Given the description of an element on the screen output the (x, y) to click on. 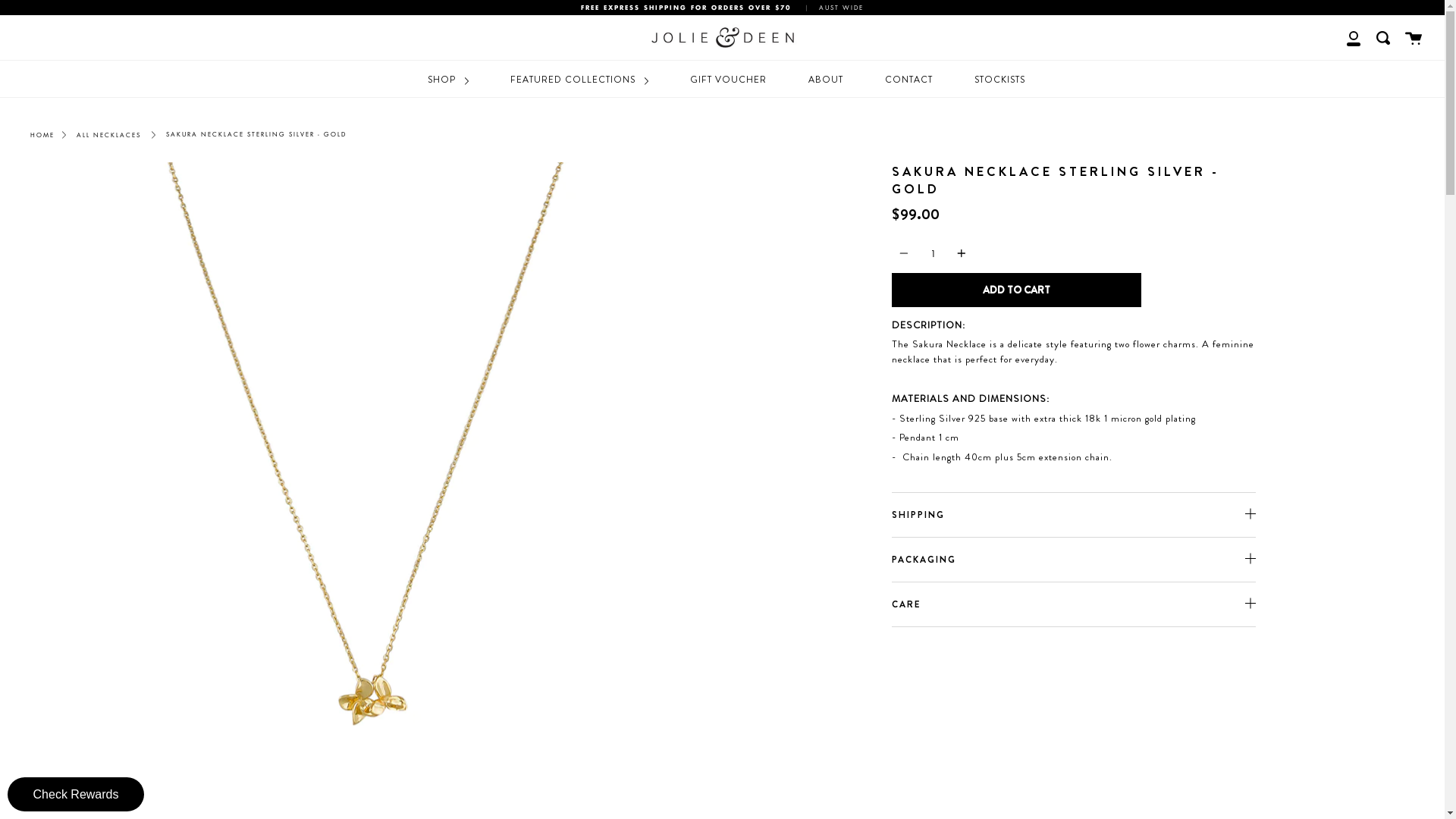
HOME Element type: text (42, 134)
Cart Element type: text (1413, 37)
STOCKISTS Element type: text (999, 79)
GIFT VOUCHER Element type: text (727, 79)
Search Element type: text (1383, 37)
My Account Element type: text (1353, 37)
SHOP Element type: text (447, 79)
ALL NECKLACES Element type: text (108, 134)
FEATURED COLLECTIONS Element type: text (579, 79)
ADD TO CART Element type: text (1016, 290)
CONTACT Element type: text (908, 79)
ABOUT Element type: text (824, 79)
